Given the description of an element on the screen output the (x, y) to click on. 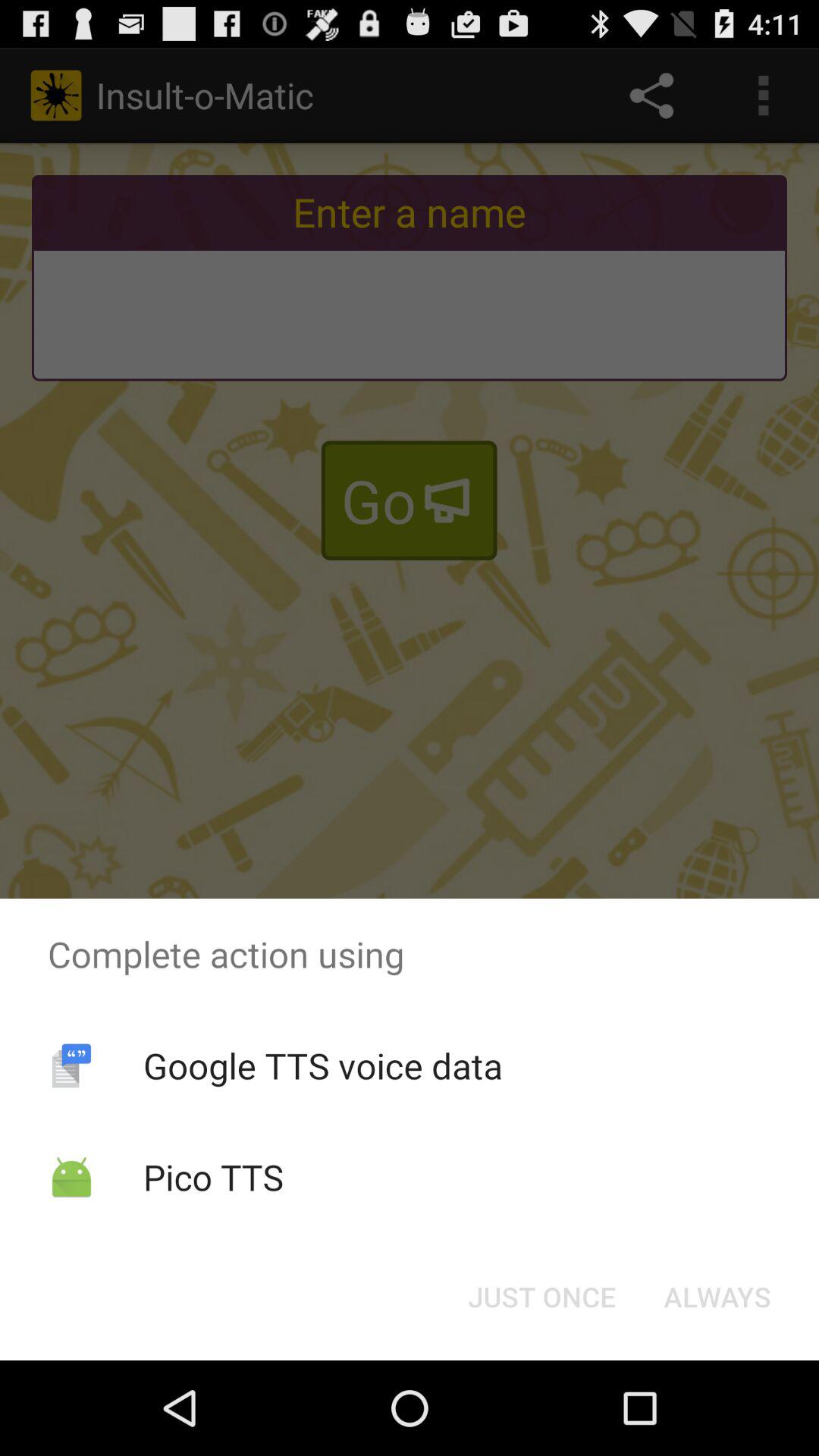
press the button at the bottom right corner (717, 1296)
